Given the description of an element on the screen output the (x, y) to click on. 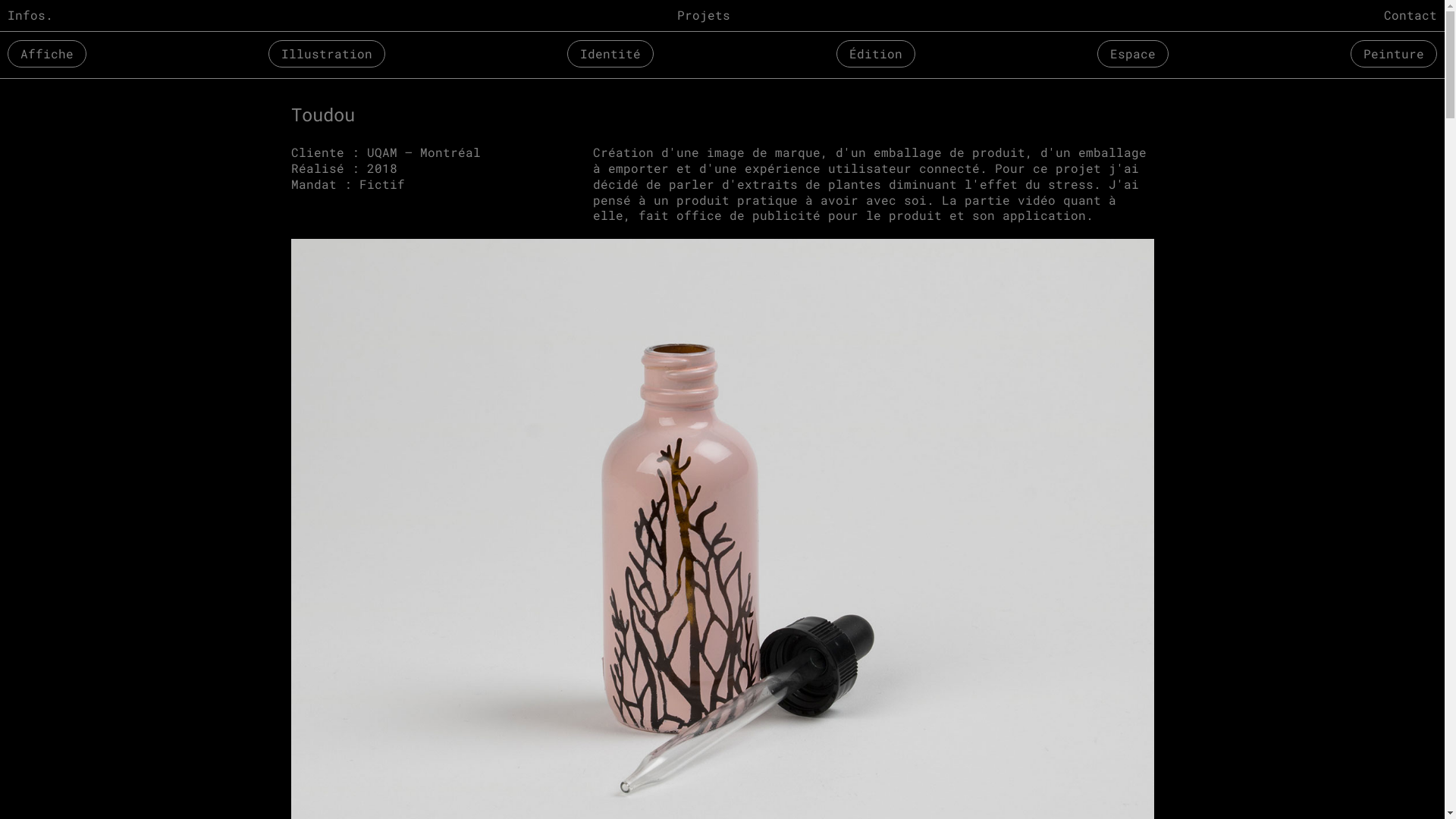
Espace Element type: text (1132, 53)
Peinture Element type: text (1393, 53)
Projets Element type: text (702, 15)
Contact Element type: text (1413, 14)
Affiche Element type: text (46, 53)
Illustration Element type: text (326, 53)
Infos. Element type: text (30, 14)
